Given the description of an element on the screen output the (x, y) to click on. 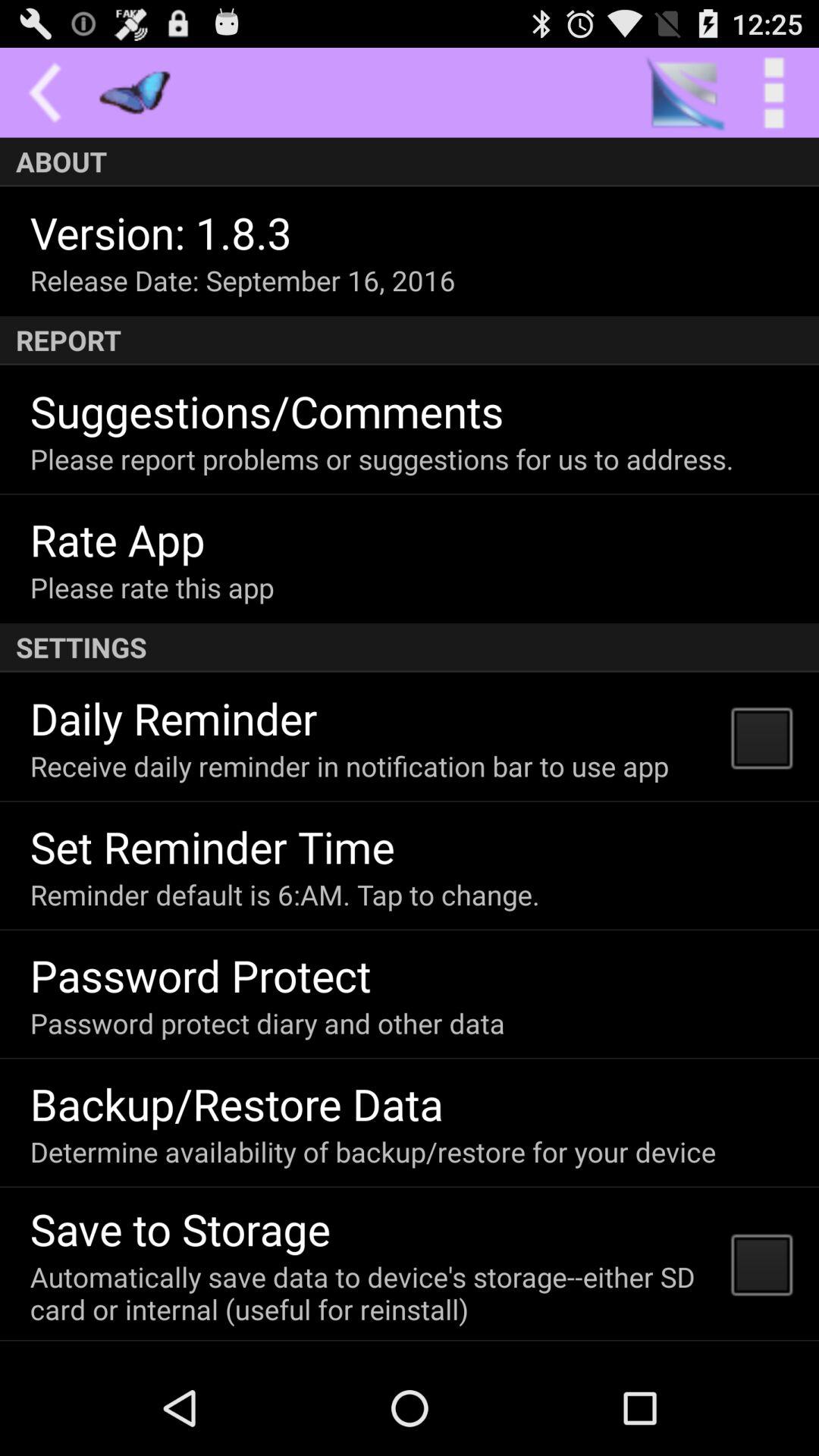
click the item above the please report problems (266, 410)
